Given the description of an element on the screen output the (x, y) to click on. 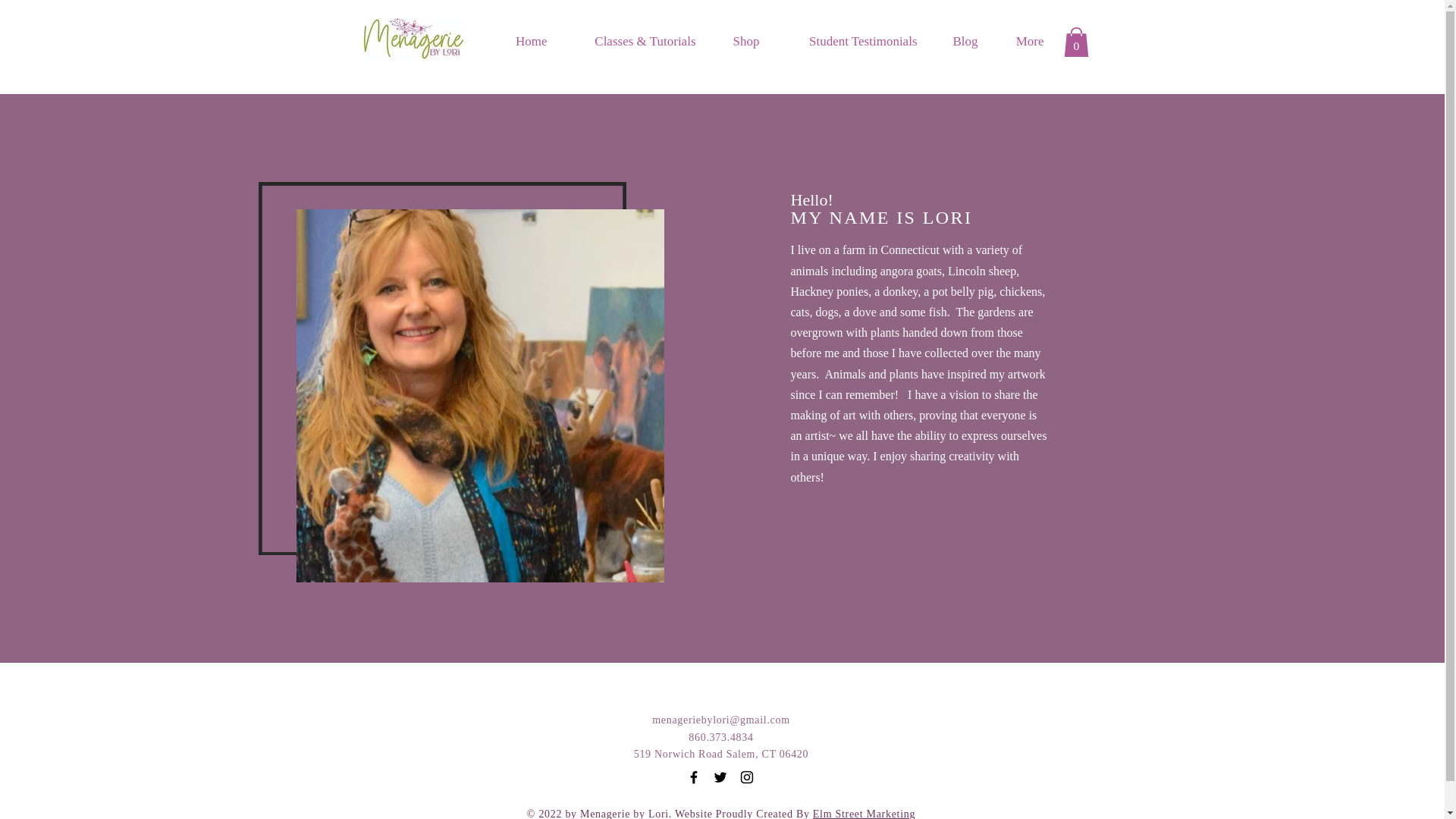
Blog (958, 41)
Home (523, 41)
Student Testimonials (849, 41)
Elm Street Marketing (863, 813)
